Given the description of an element on the screen output the (x, y) to click on. 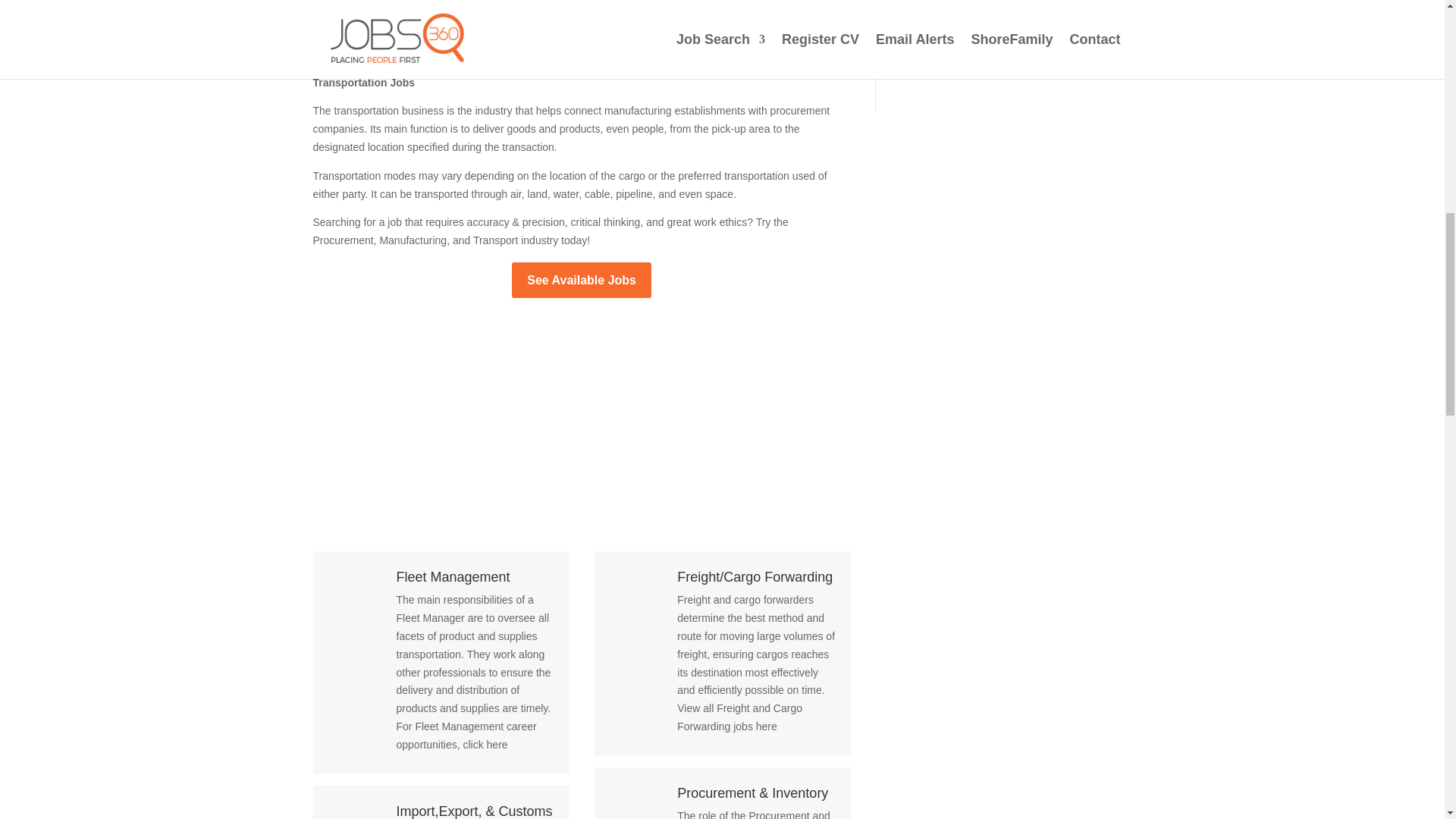
See Available Jobs (581, 280)
Fleet Management (452, 576)
Drop Us a Line (1014, 29)
